Given the description of an element on the screen output the (x, y) to click on. 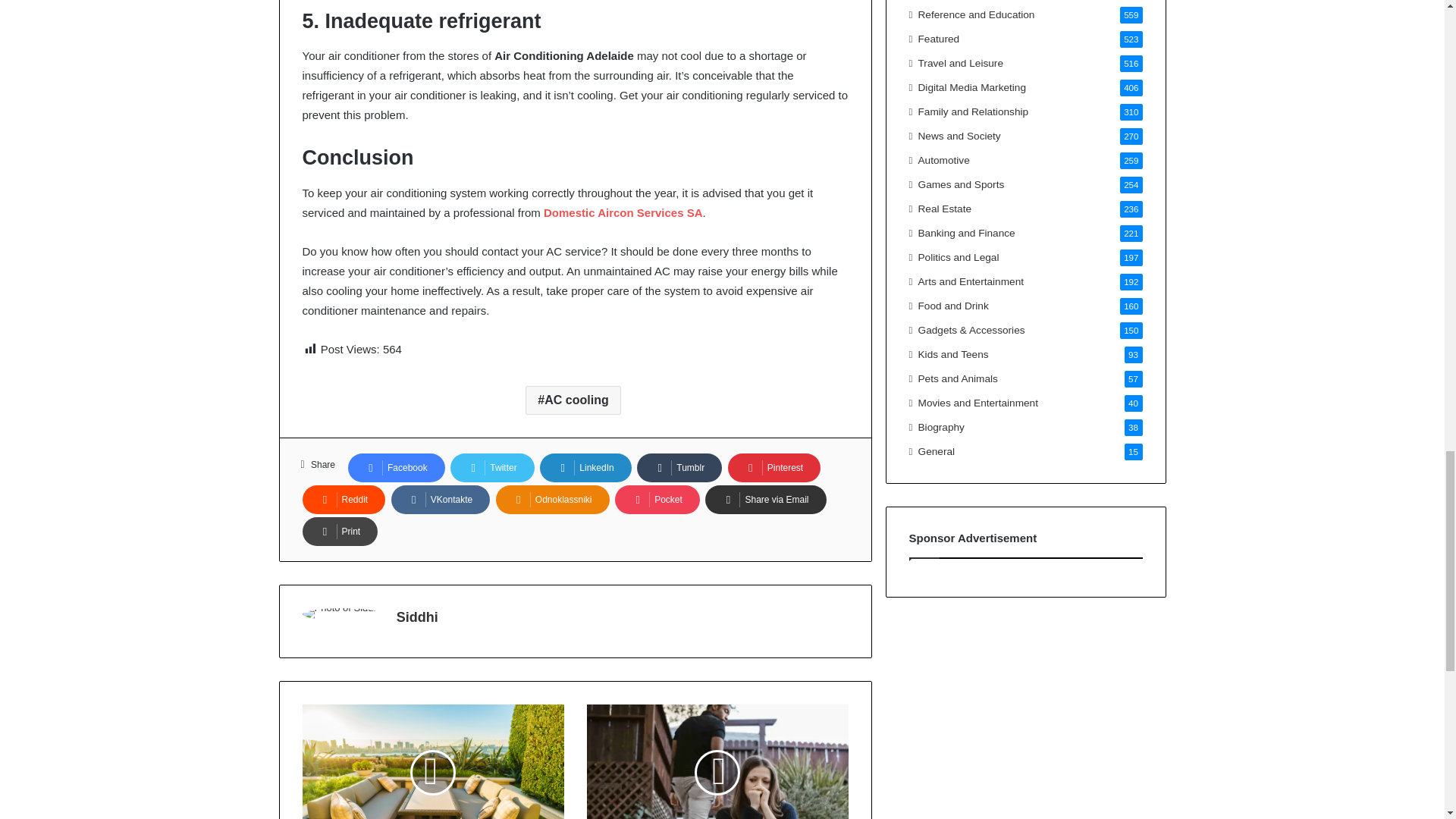
Reddit (343, 499)
Tumblr (679, 467)
Facebook (396, 467)
Pinterest (774, 467)
VKontakte (440, 499)
LinkedIn (585, 467)
Twitter (491, 467)
